Given the description of an element on the screen output the (x, y) to click on. 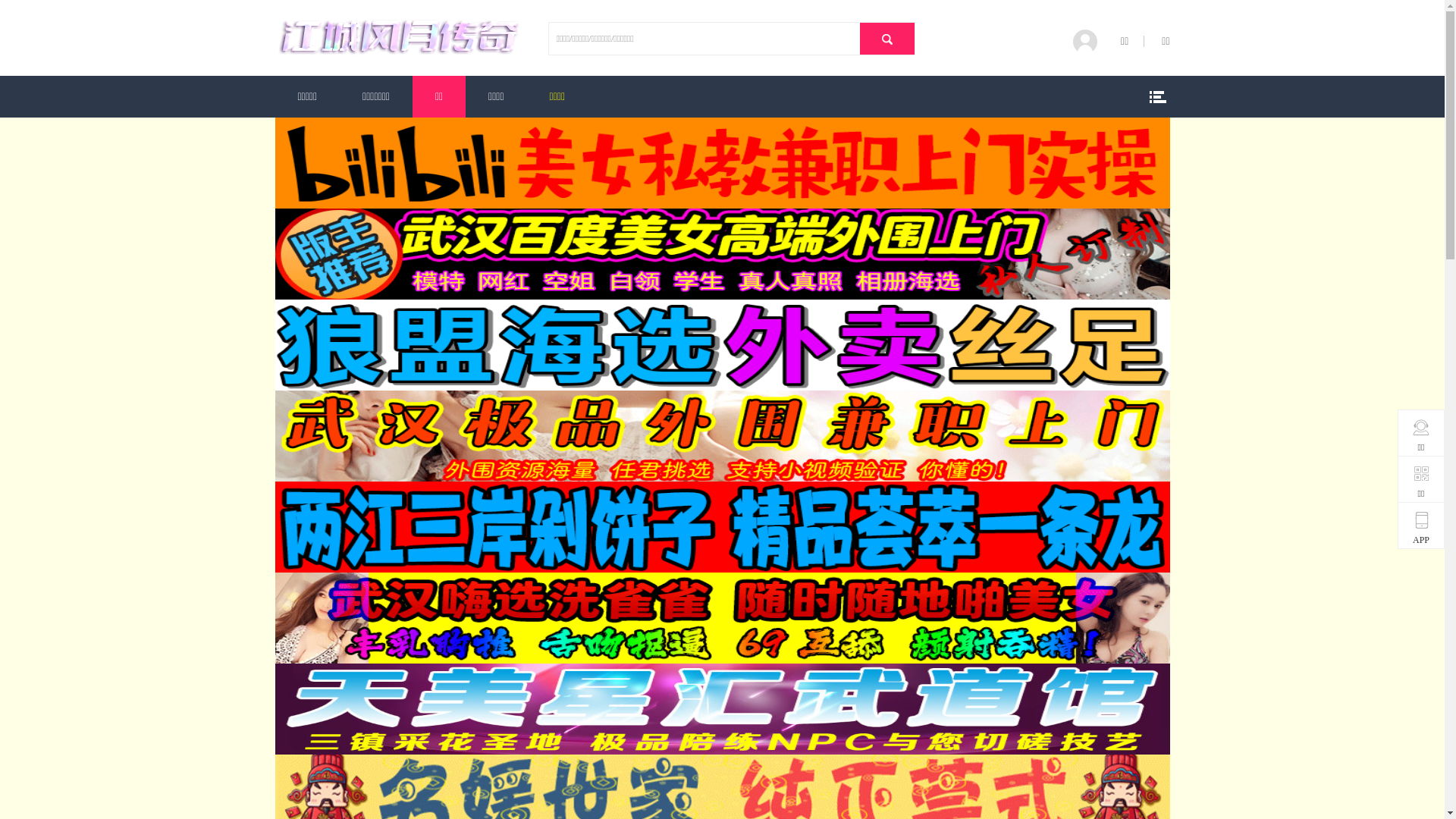
APP Element type: text (1420, 528)
   Element type: text (886, 38)
